Given the description of an element on the screen output the (x, y) to click on. 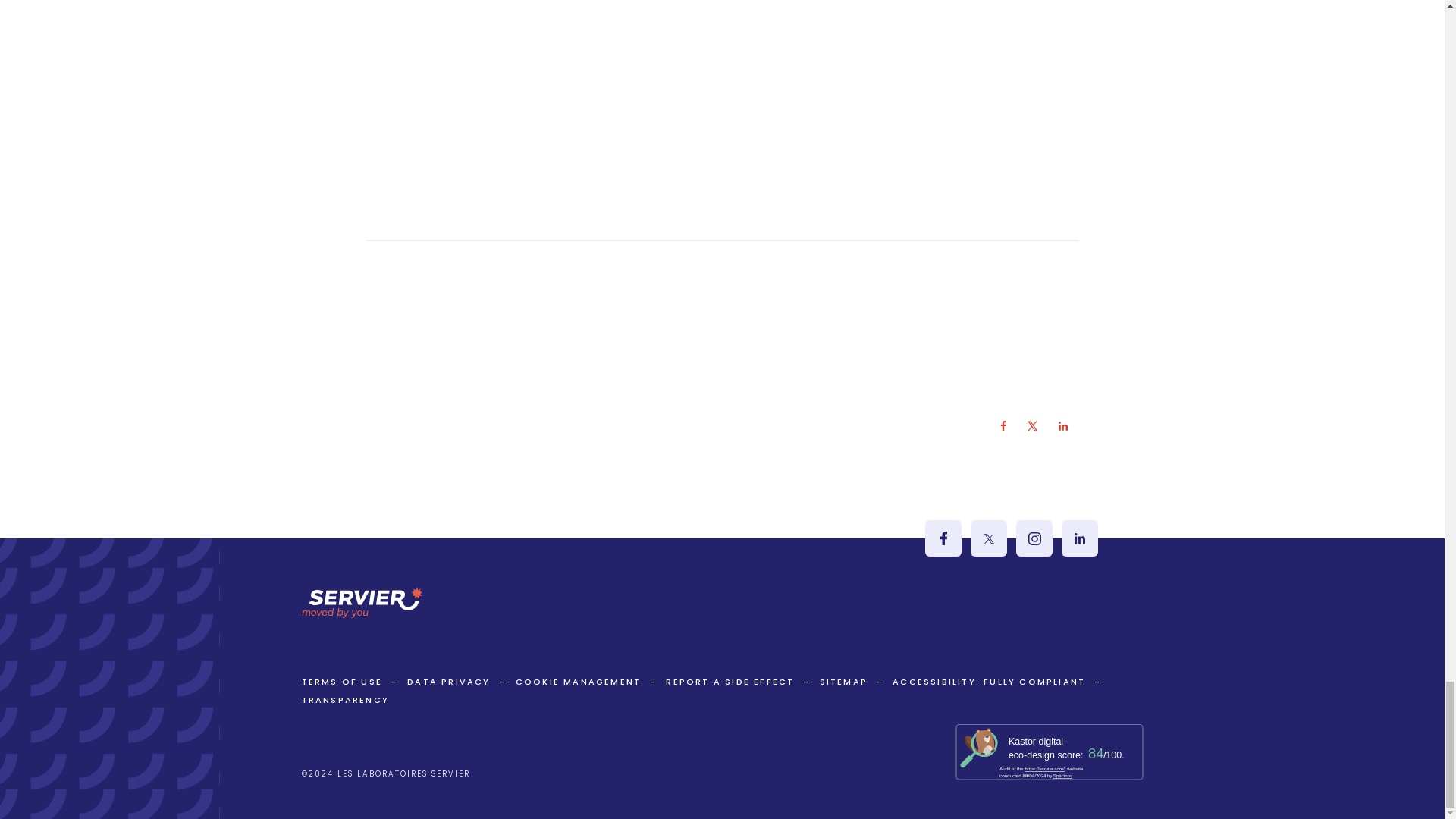
Read the cookie management (577, 681)
Share on Facebook (1002, 426)
Share on X (1032, 426)
Discover the terms of use to website (341, 681)
Share on LinkedIn (1063, 426)
Read the data privacy of the website (448, 681)
